Given the description of an element on the screen output the (x, y) to click on. 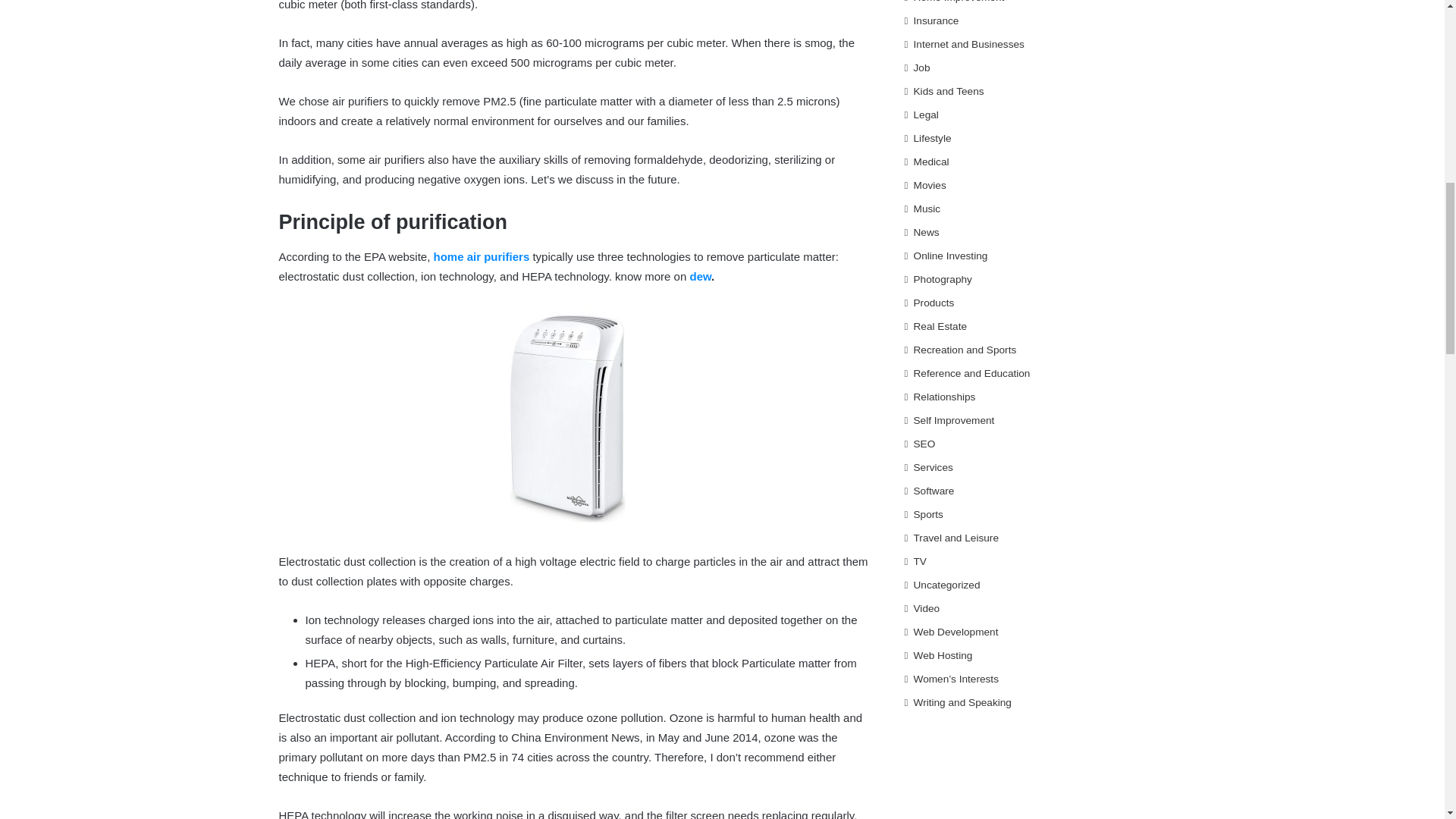
home air purifiers (481, 256)
dew (699, 276)
